Given the description of an element on the screen output the (x, y) to click on. 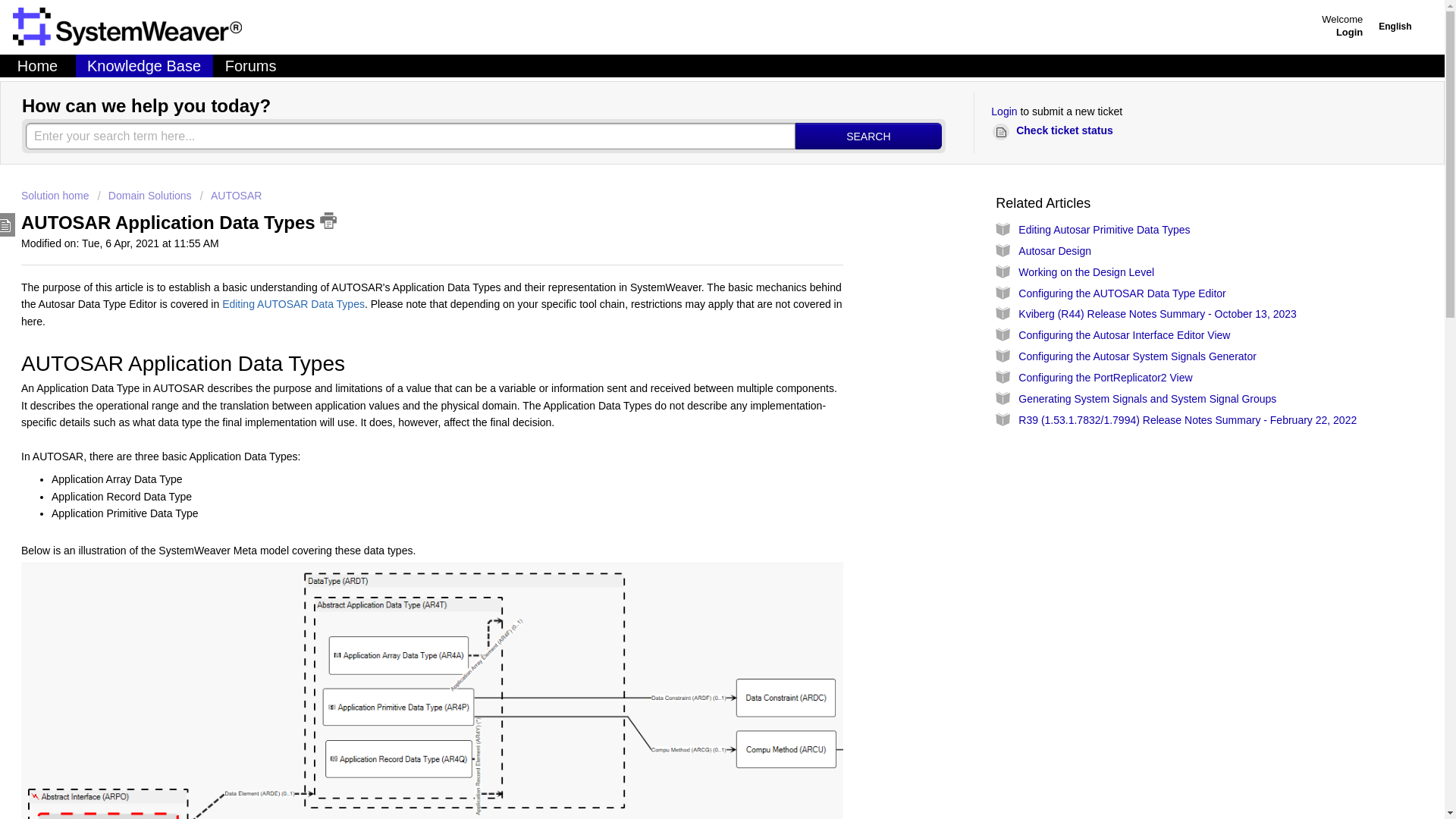
Print this Article (328, 220)
Knowledge Base (143, 65)
AUTOSAR (230, 195)
Check ticket status (1055, 131)
Login (1349, 30)
Solution home (56, 195)
Forums (250, 65)
Generating System Signals and System Signal Groups (1146, 398)
Configuring the PortReplicator2 View (1104, 377)
Autosar Design (1053, 250)
Configuring the AUTOSAR Data Type Editor (1121, 293)
Check ticket status (1055, 131)
Configuring the Autosar Interface Editor View (1123, 335)
Home (37, 65)
Working on the Design Level (1085, 272)
